Given the description of an element on the screen output the (x, y) to click on. 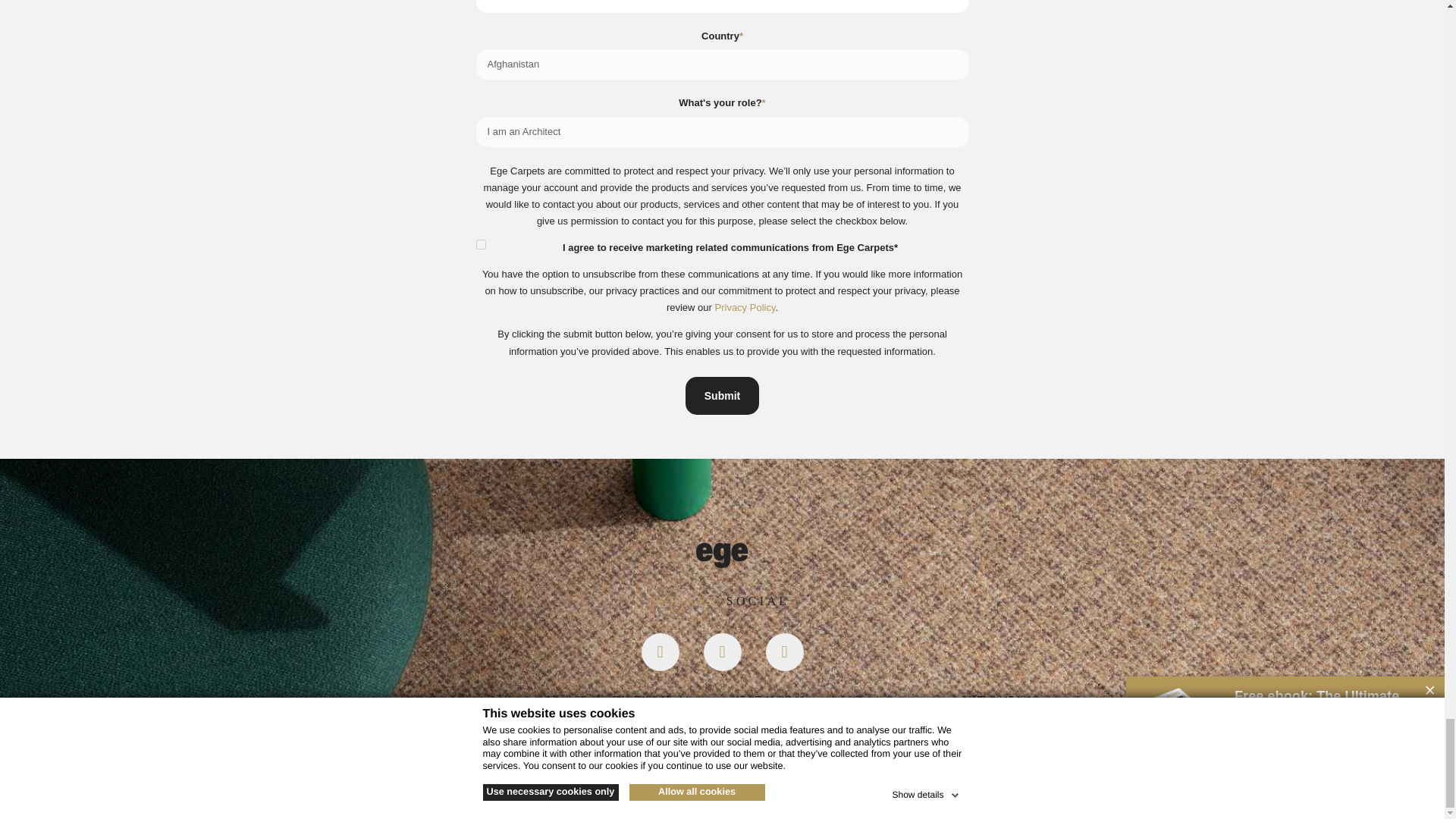
Submit (721, 395)
true (481, 244)
